Given the description of an element on the screen output the (x, y) to click on. 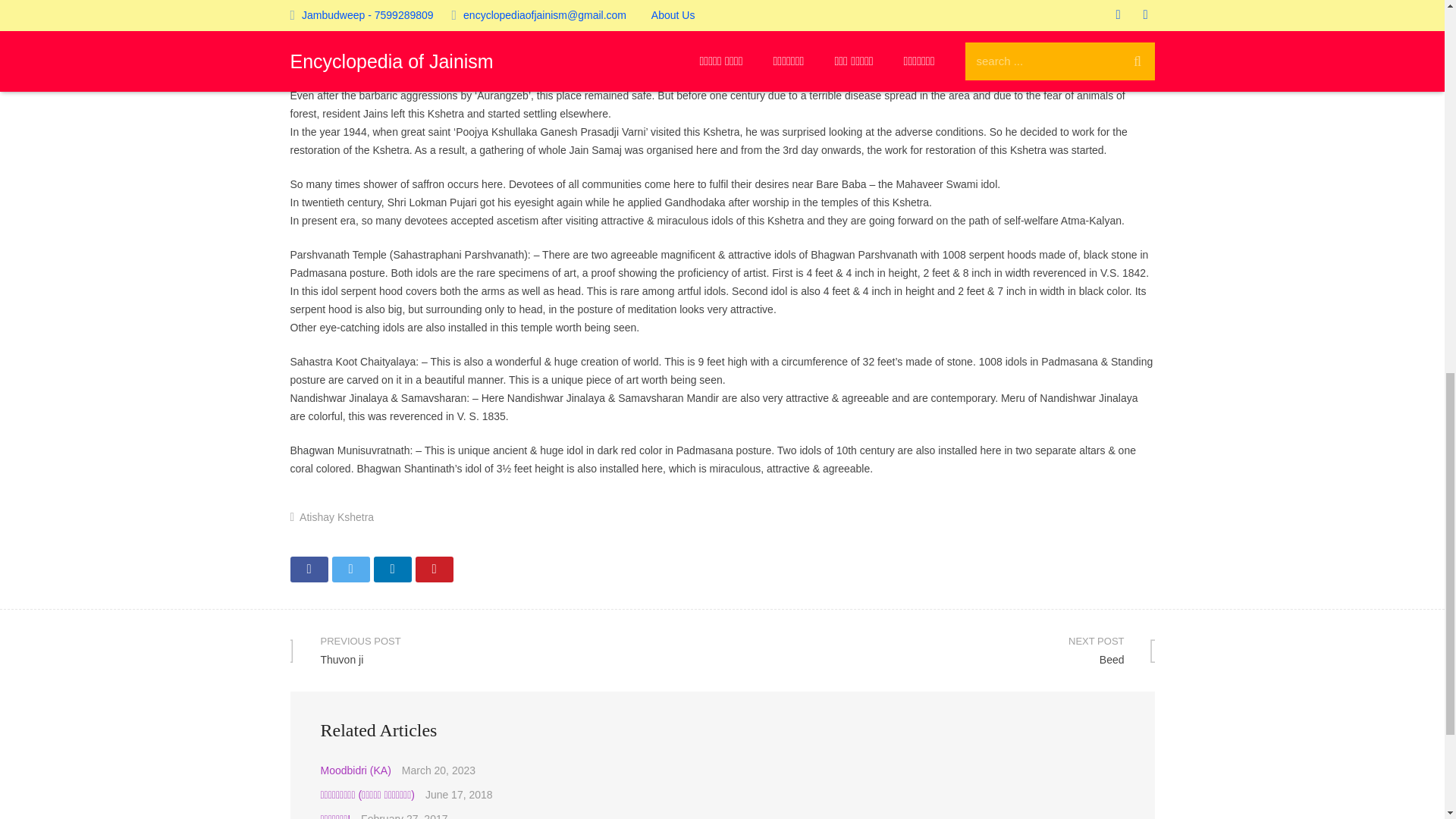
Back to top (938, 650)
Pin this (1411, 21)
Tweet this (433, 569)
Share this (350, 569)
Share this (391, 569)
Atishay Kshetra (308, 569)
